Given the description of an element on the screen output the (x, y) to click on. 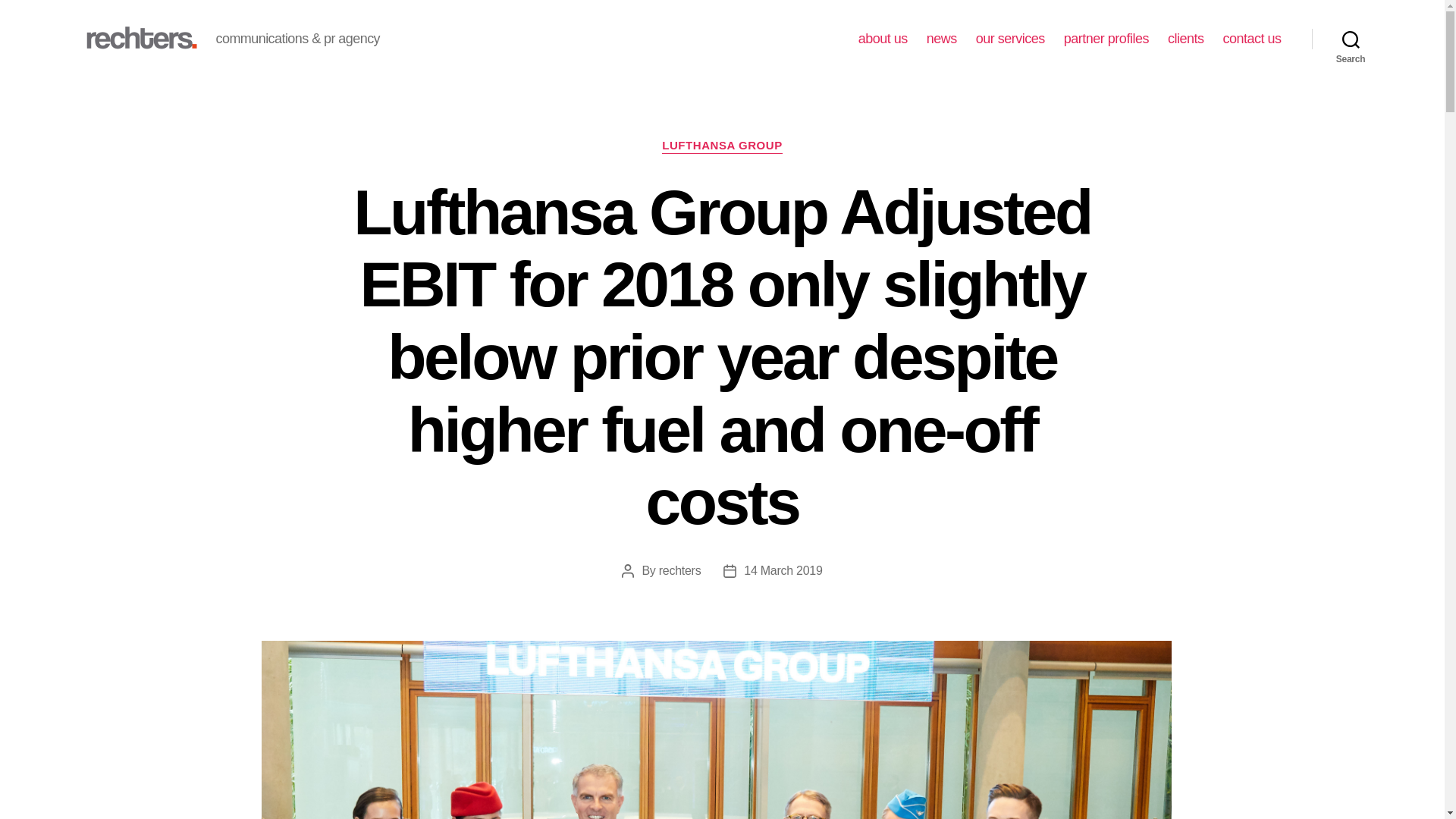
about us (883, 39)
clients (1185, 39)
Search (1350, 39)
partner profiles (1106, 39)
LUFTHANSA GROUP (722, 145)
contact us (1252, 39)
14 March 2019 (783, 570)
our services (1010, 39)
news (941, 39)
rechters (680, 570)
